Given the description of an element on the screen output the (x, y) to click on. 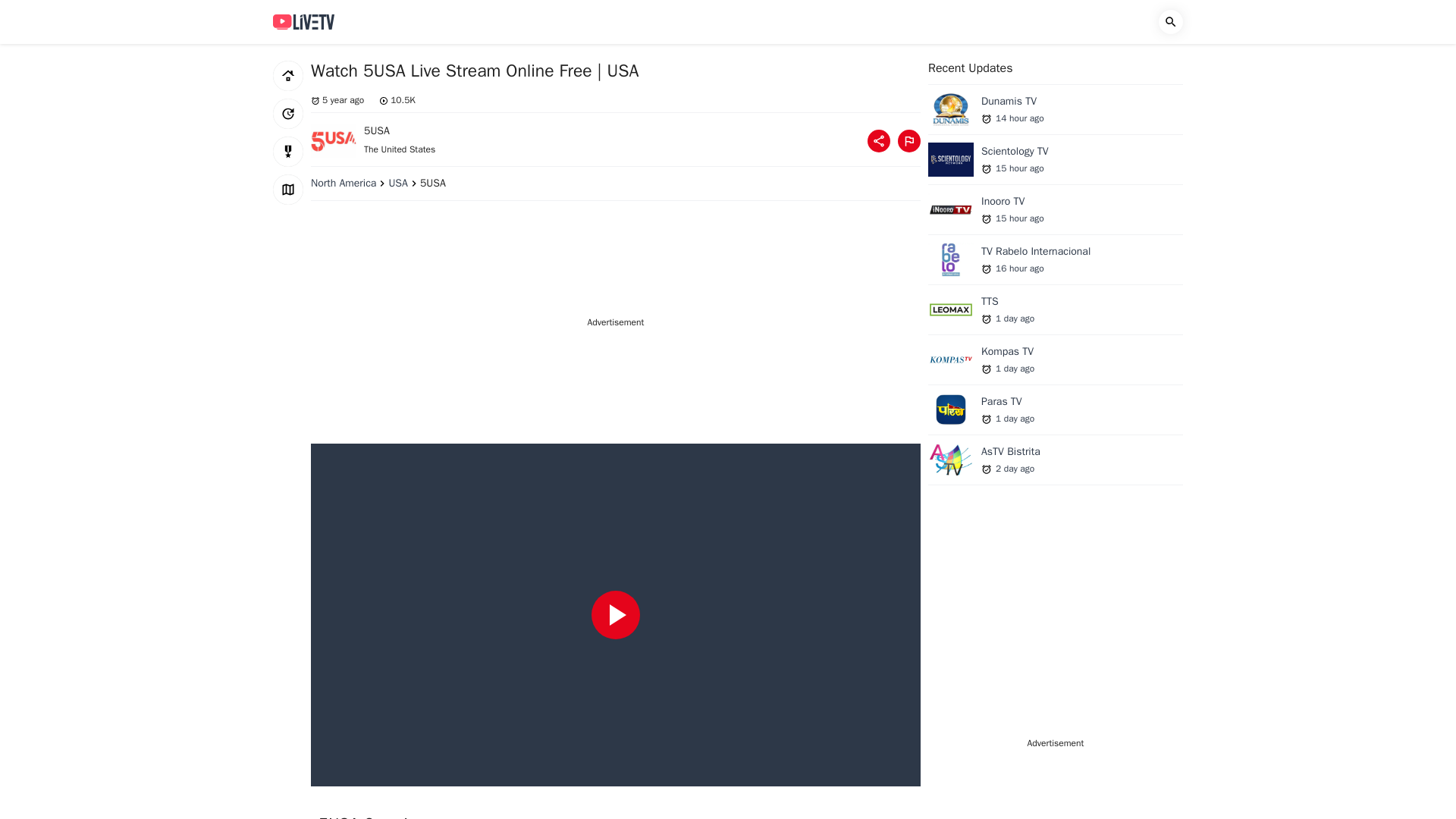
5USA Live stream (1055, 113)
Live TV channels: Live and Replay TV (333, 141)
Report Broken (303, 21)
Home (909, 140)
Most Popular Channels (287, 75)
USA (287, 151)
